Given the description of an element on the screen output the (x, y) to click on. 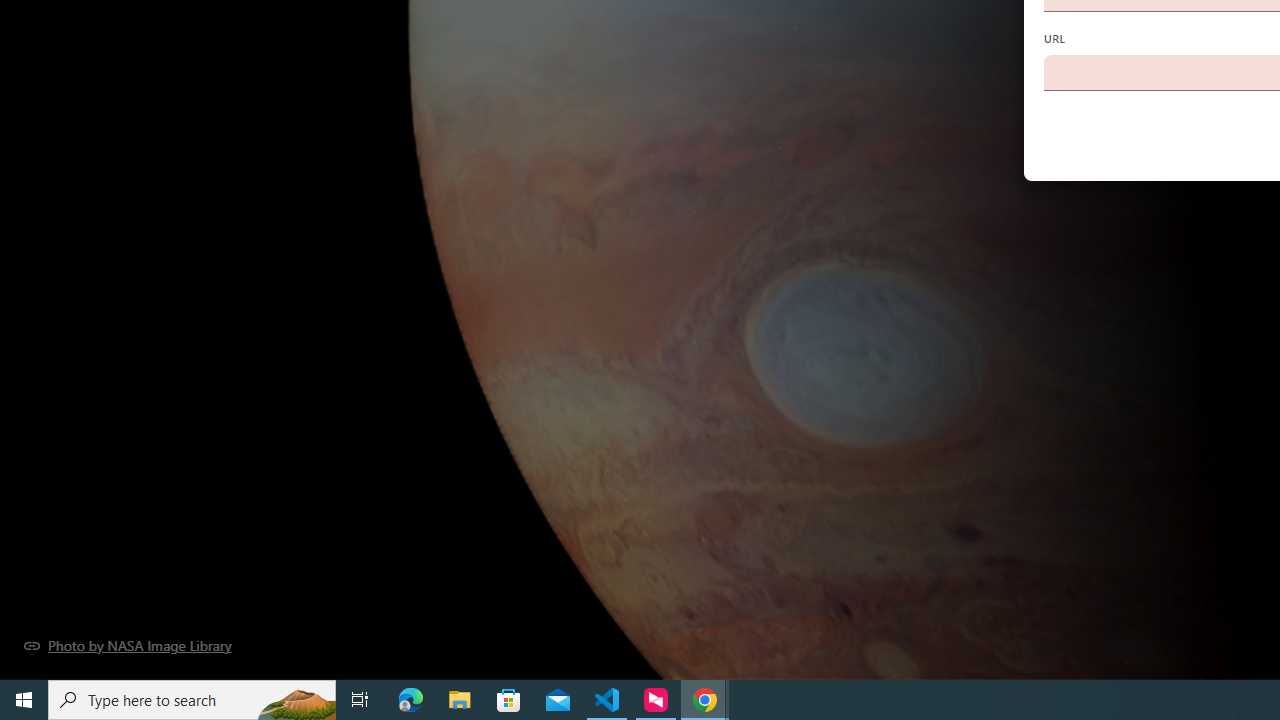
Google Chrome - 2 running windows (704, 699)
File Explorer (460, 699)
Task View (359, 699)
Start (24, 699)
Type here to search (191, 699)
Microsoft Edge (411, 699)
Search highlights icon opens search home window (295, 699)
Visual Studio Code - 1 running window (607, 699)
Microsoft Store (509, 699)
